Given the description of an element on the screen output the (x, y) to click on. 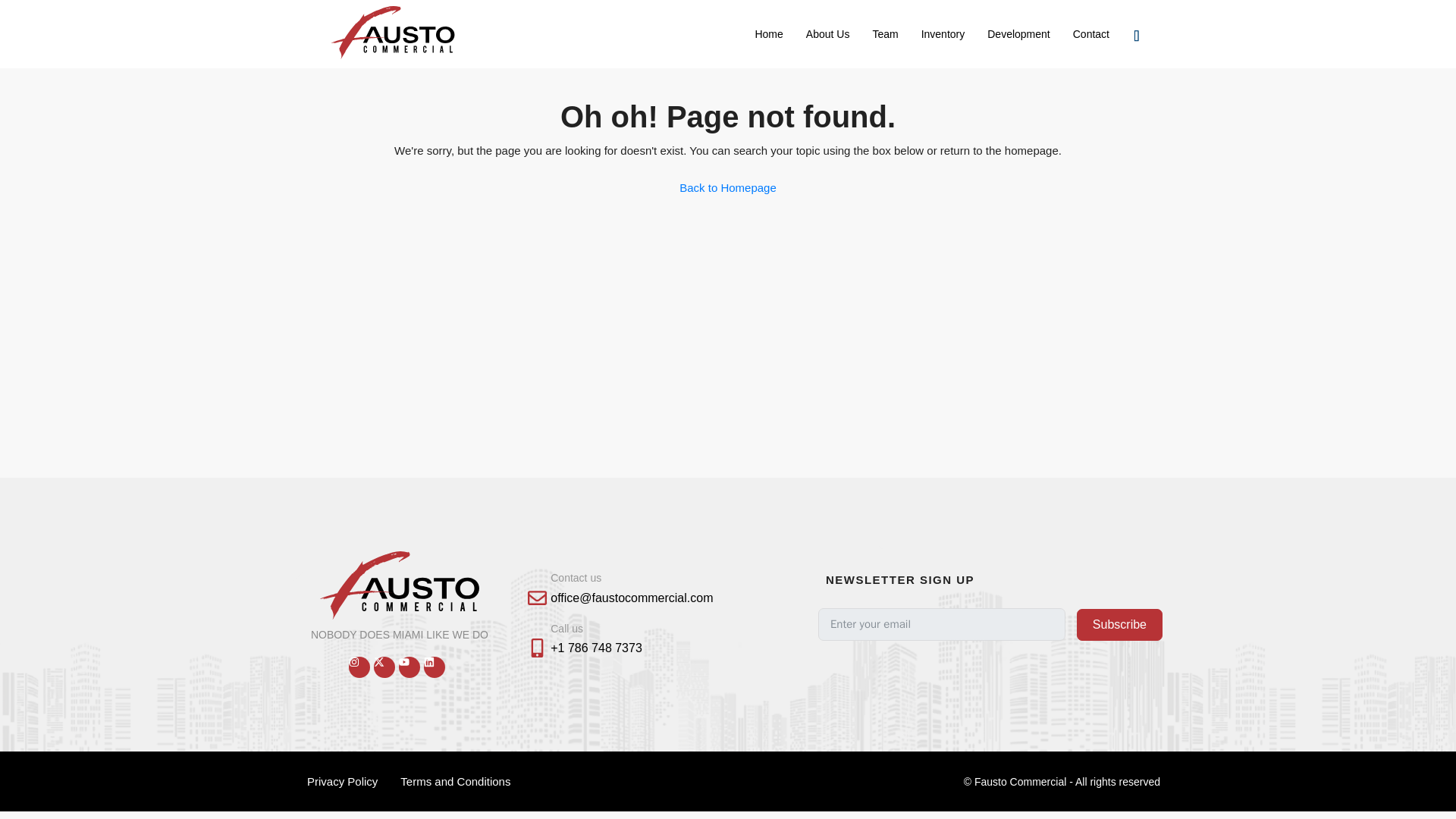
Back to Homepage (727, 187)
Inventory (943, 33)
About Us (827, 33)
Development (1018, 33)
Terms and Conditions (454, 780)
Privacy Policy (341, 780)
faustonet logo (400, 585)
Subscribe (1119, 624)
